Given the description of an element on the screen output the (x, y) to click on. 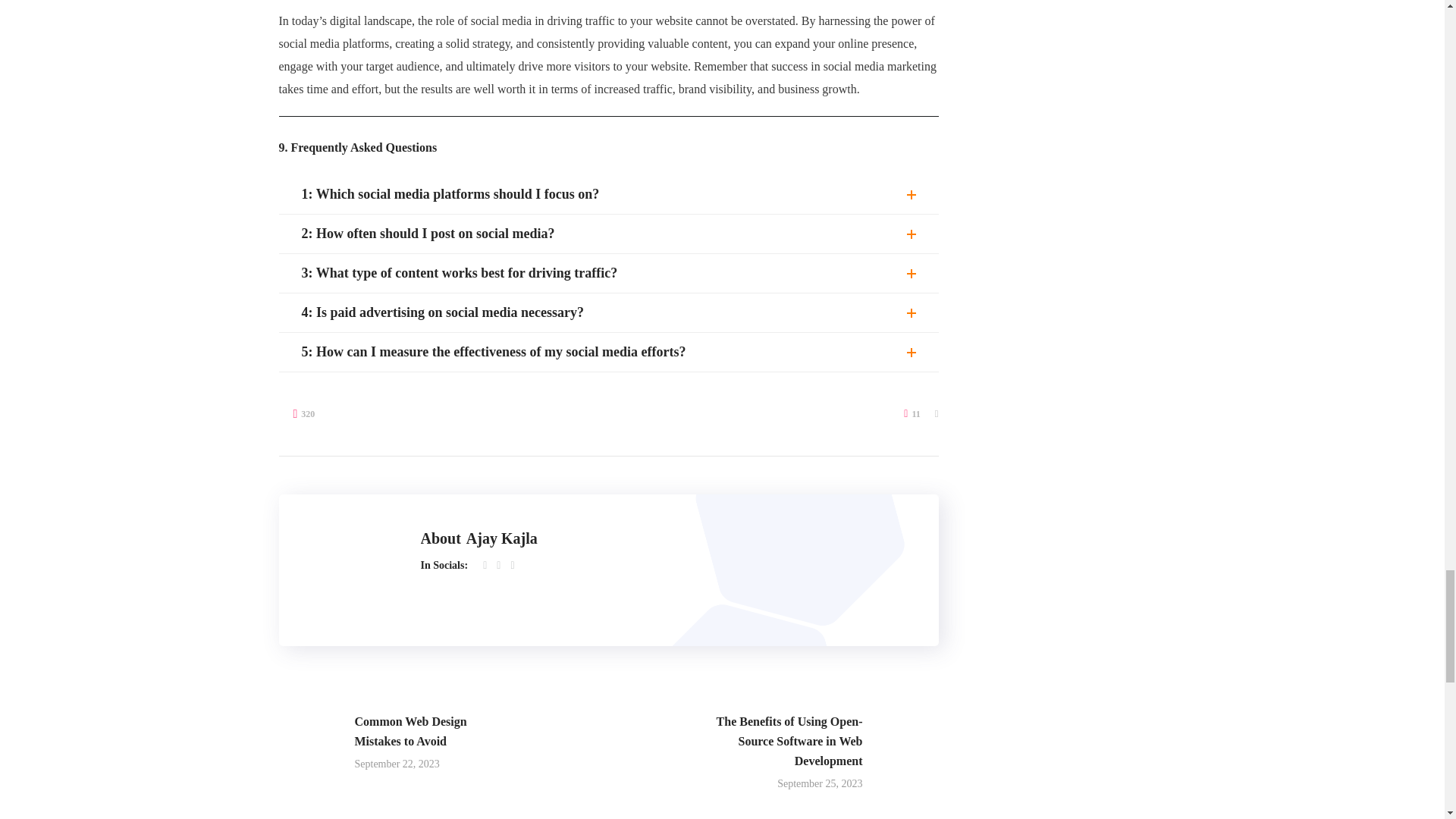
Like (912, 413)
Common Web Design Mistakes to Avoid (396, 743)
